Given the description of an element on the screen output the (x, y) to click on. 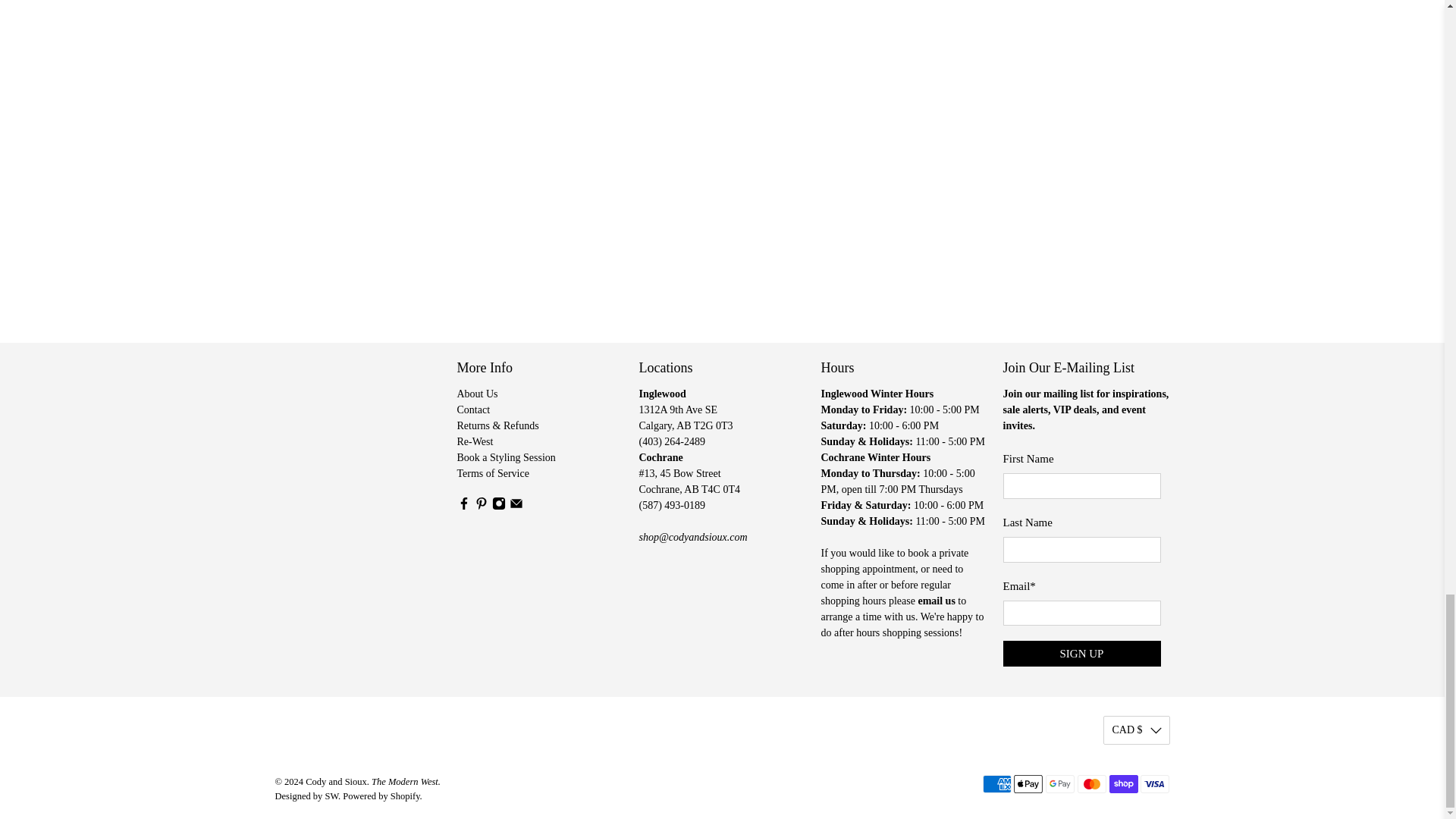
Cody and Sioux (341, 420)
Apple Pay (1027, 783)
American Express (996, 783)
